Given the description of an element on the screen output the (x, y) to click on. 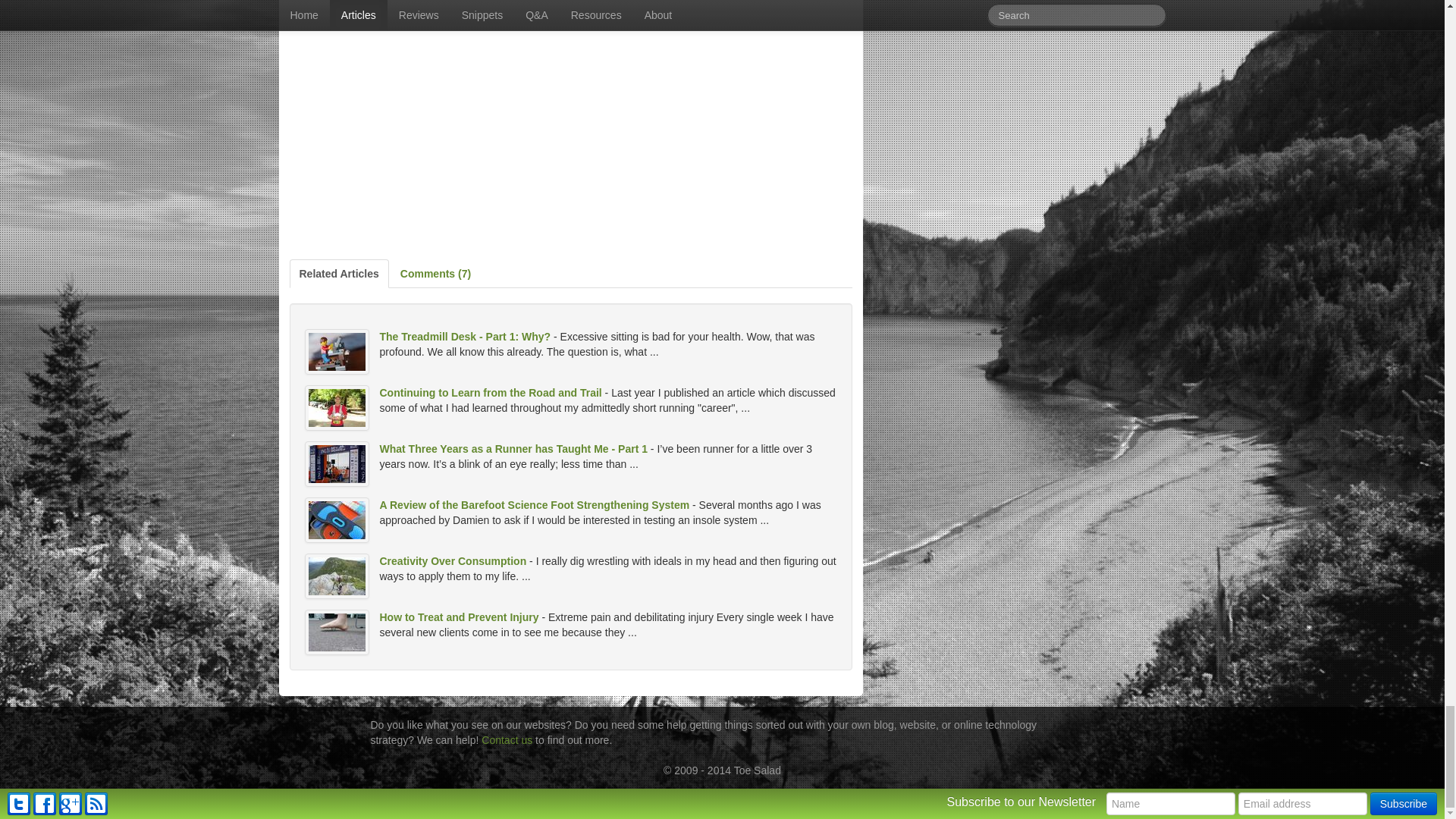
A Review of the Barefoot Science Foot Strengthening System (533, 504)
Creativity Over Consumption (451, 561)
What Three Years as a Runner has Taught Me - Part 1 (512, 449)
Related Articles (338, 273)
How to Treat and Prevent Injury (458, 616)
The Treadmill Desk - Part 1: Why? (464, 336)
Continuing to Learn from the Road and Trail (489, 392)
